Given the description of an element on the screen output the (x, y) to click on. 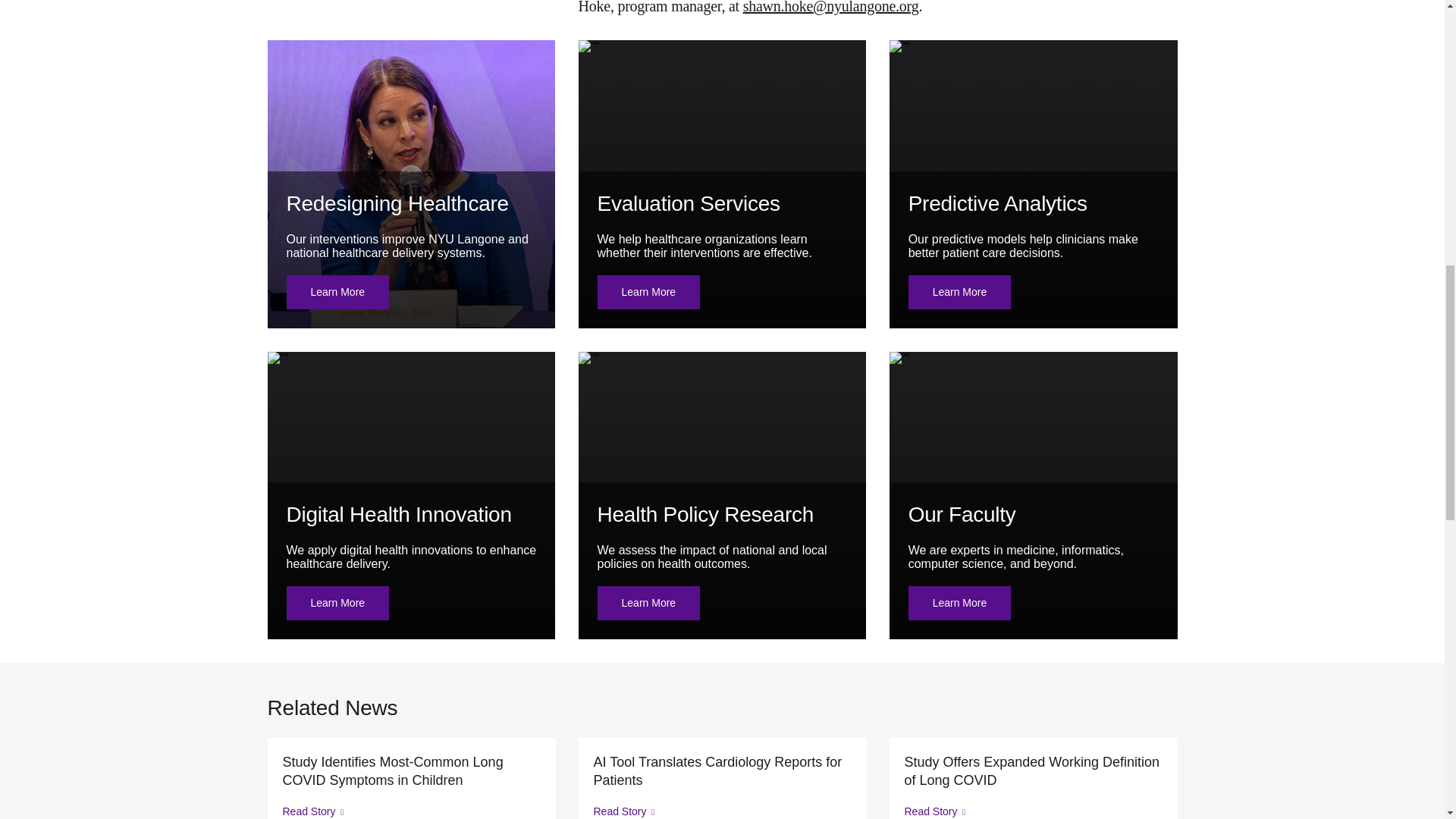
Study Offers Expanded Working Definition of Long COVID (1032, 770)
Study Identifies Most-Common Long COVID Symptoms in Children (411, 770)
AI Tool Translates Cardiology Reports for Patients (721, 770)
